Given the description of an element on the screen output the (x, y) to click on. 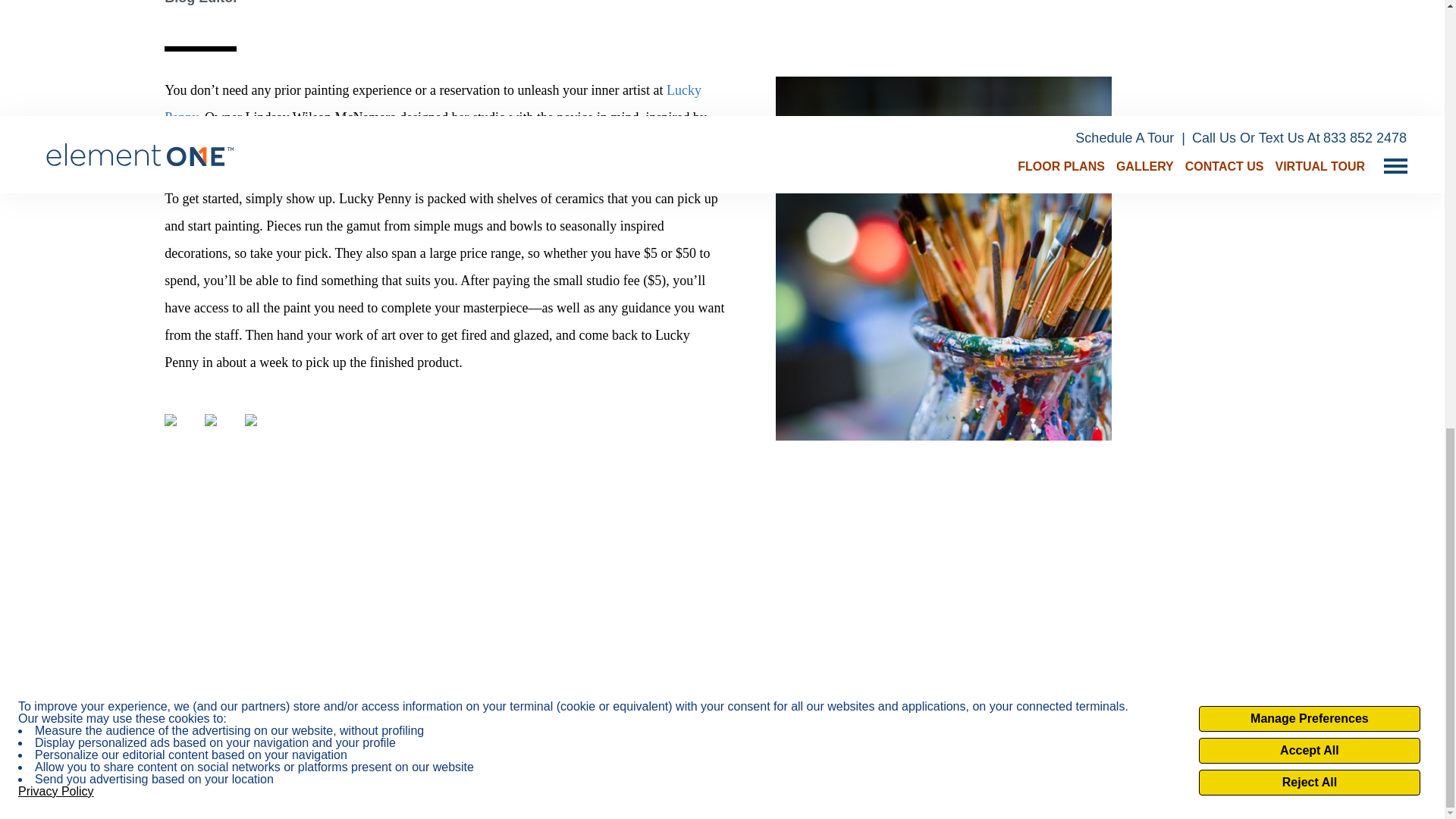
Lucky Penny (432, 103)
